Given the description of an element on the screen output the (x, y) to click on. 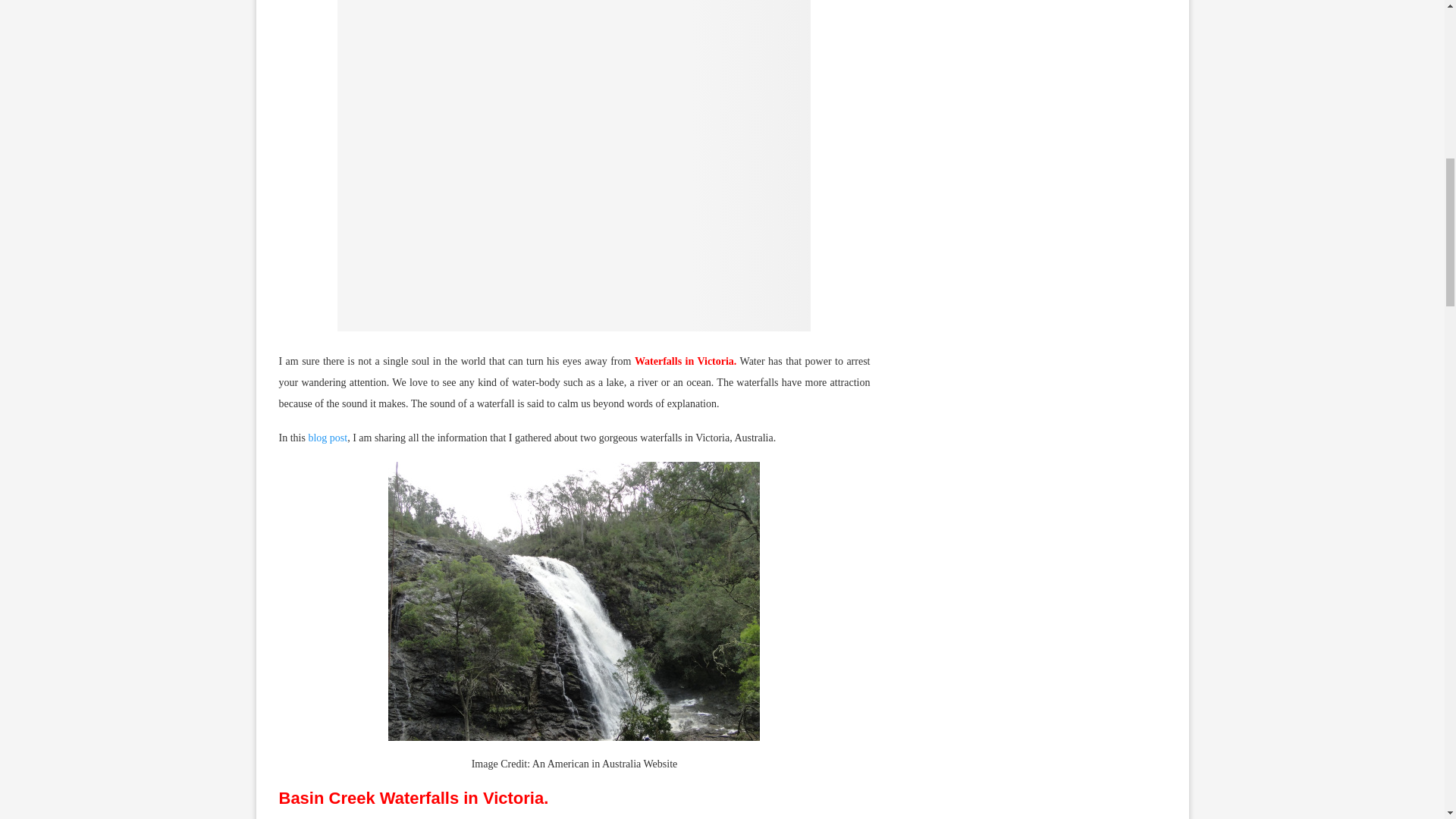
blog post (327, 437)
